Given the description of an element on the screen output the (x, y) to click on. 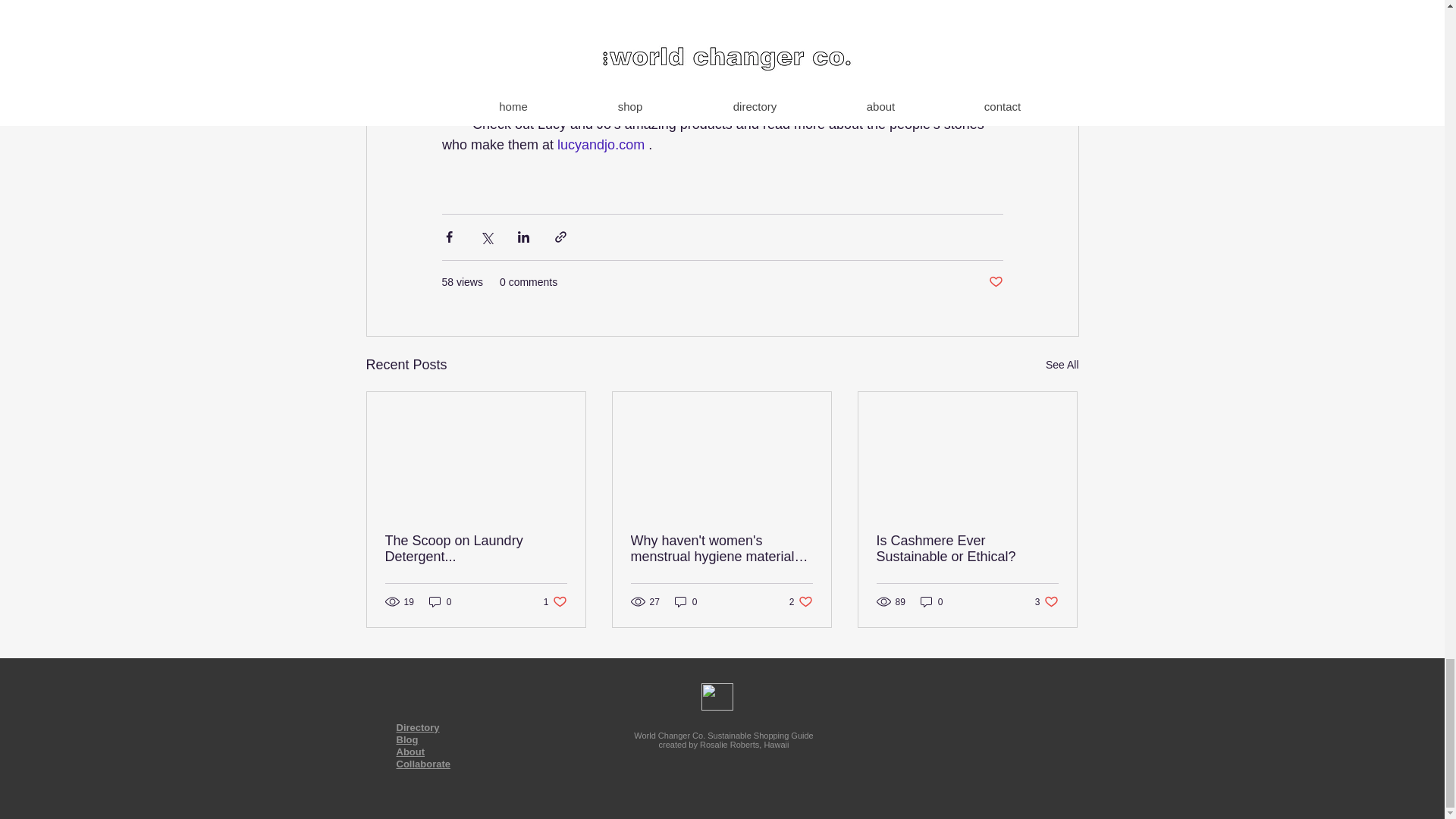
Directory (417, 727)
See All (1061, 364)
About (410, 751)
0 (931, 601)
0 (555, 601)
0 (440, 601)
Blog (685, 601)
lucyandjo.com (406, 739)
Is Cashmere Ever Sustainable or Ethical? (1046, 601)
Post not marked as liked (601, 144)
The Scoop on Laundry Detergent... (967, 549)
